Given the description of an element on the screen output the (x, y) to click on. 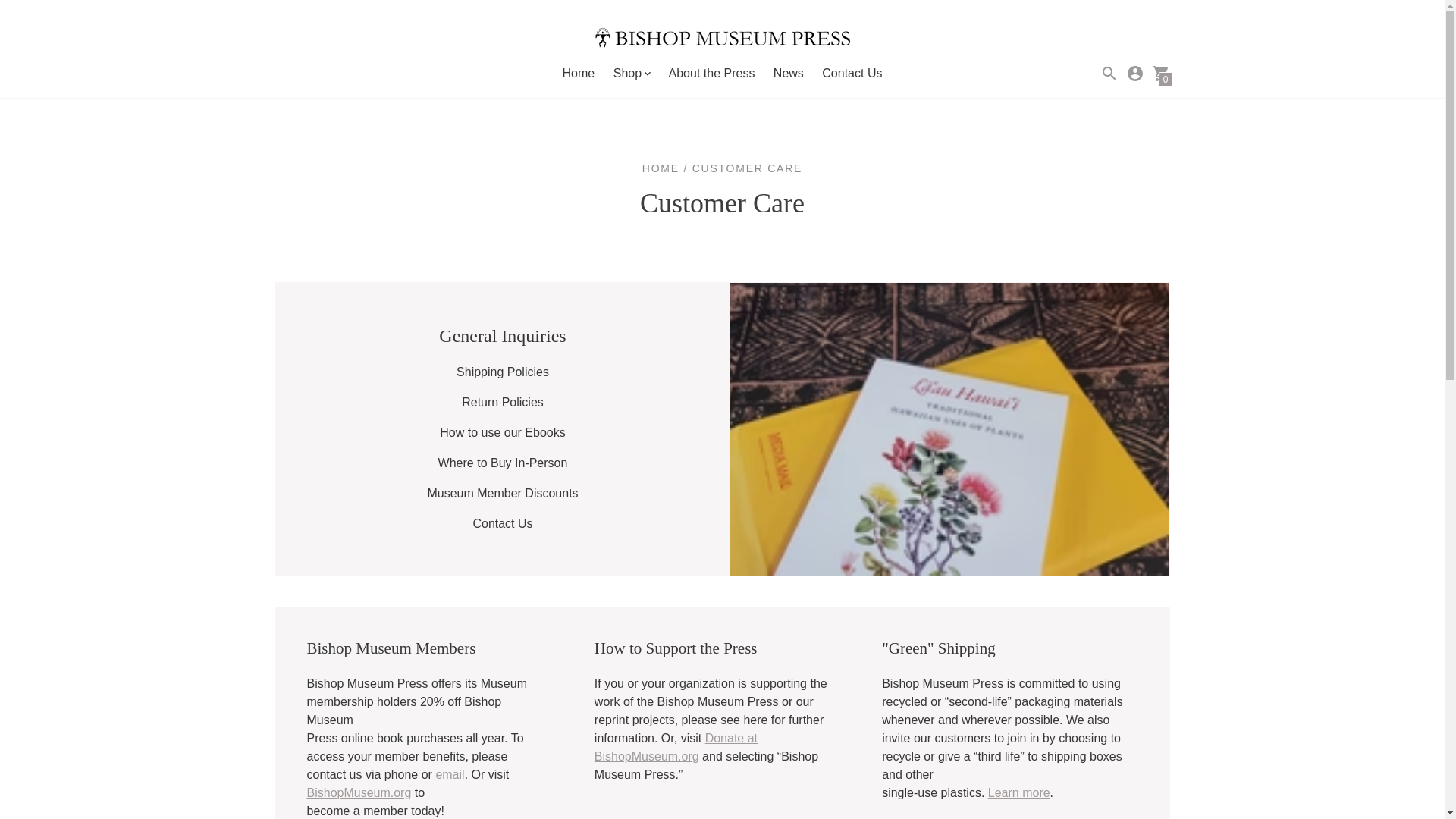
Bishop Museum Members (502, 492)
Press Re-Packaging (1018, 792)
Contact Us (852, 72)
About the Press (711, 72)
News (788, 72)
Where to Buy (502, 462)
Shop (630, 73)
Contact Us (501, 522)
Home (578, 72)
